Given the description of an element on the screen output the (x, y) to click on. 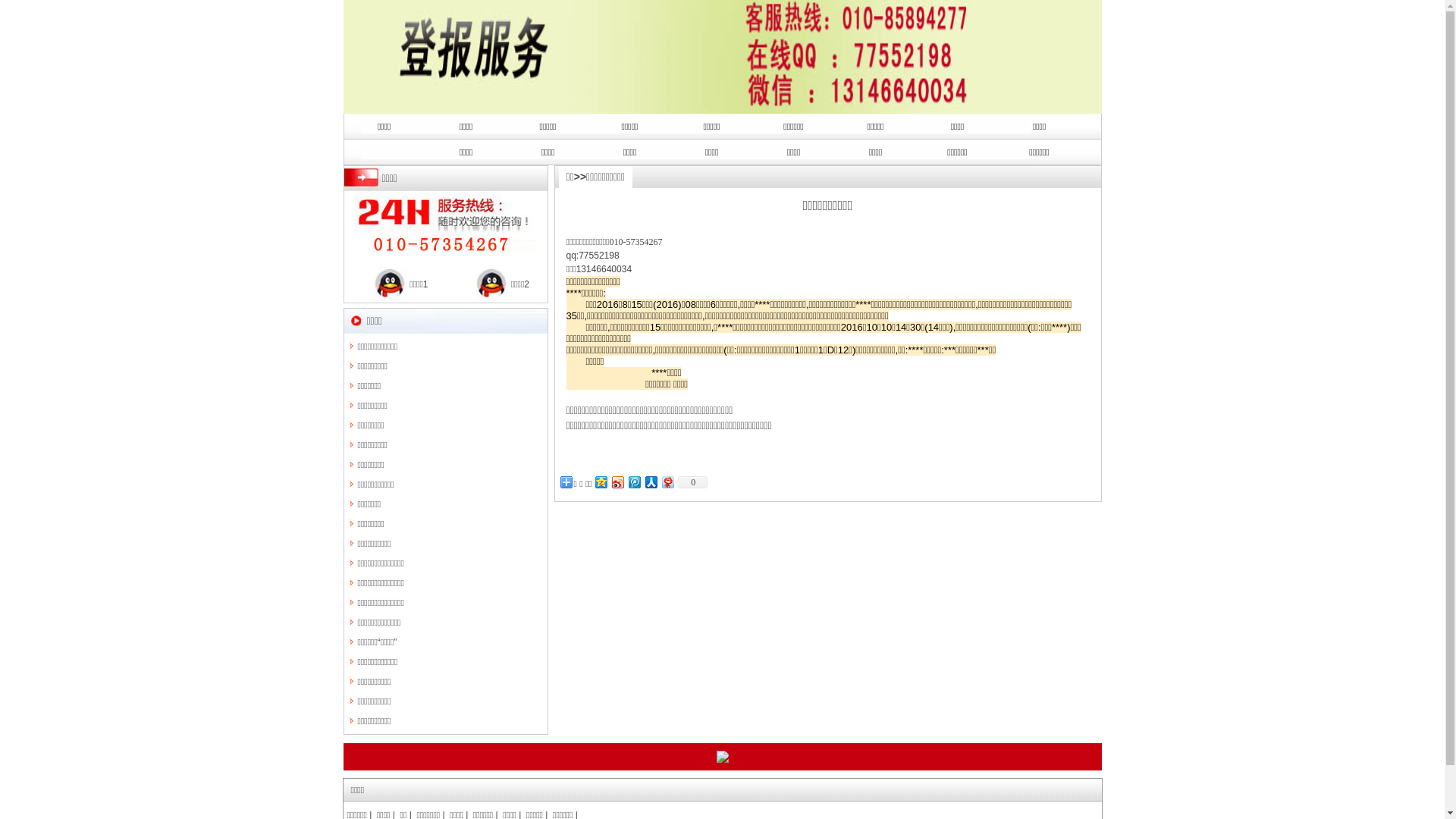
0 Element type: text (691, 482)
